Given the description of an element on the screen output the (x, y) to click on. 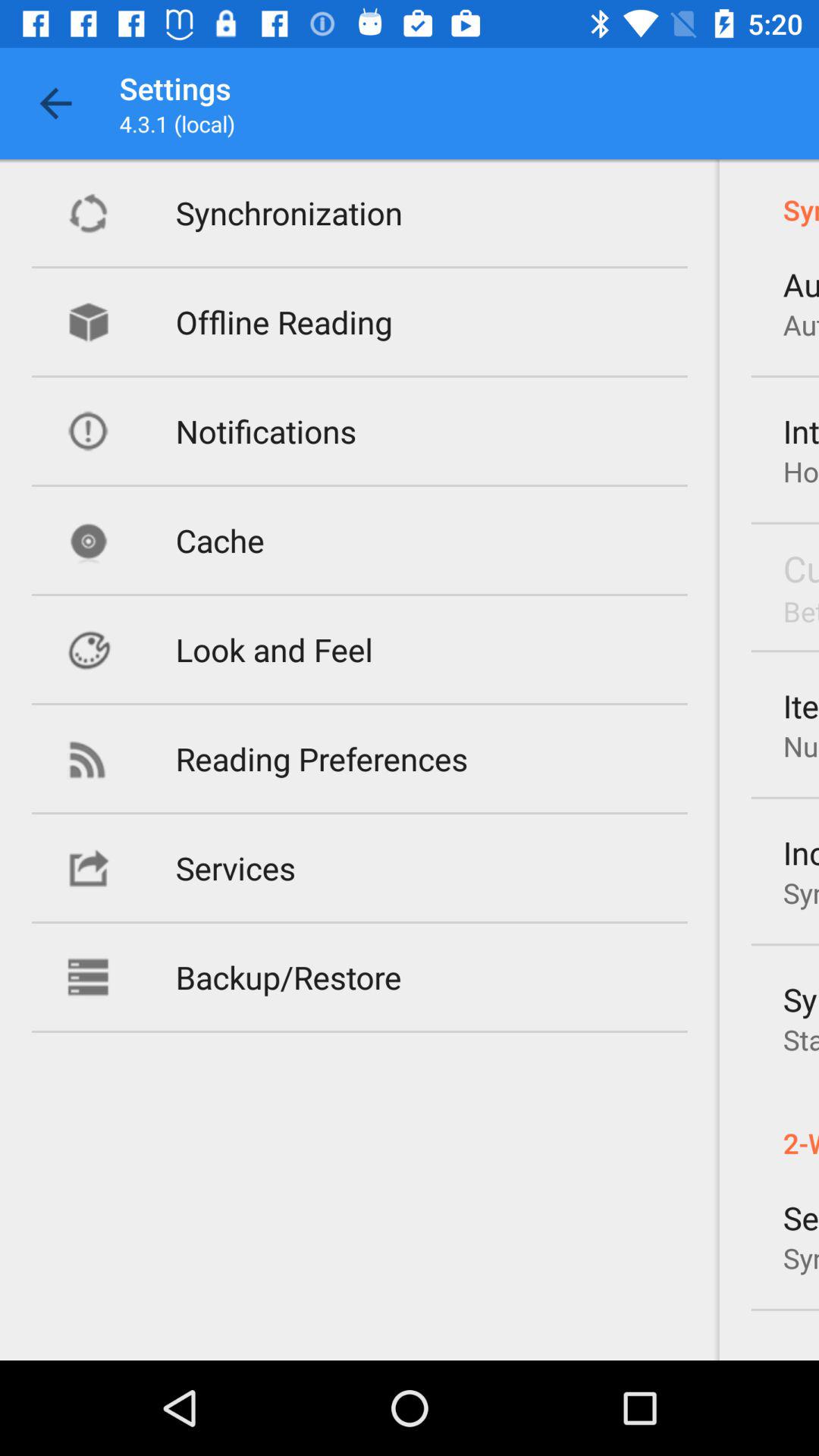
launch item below the 2 way sync (801, 1217)
